Given the description of an element on the screen output the (x, y) to click on. 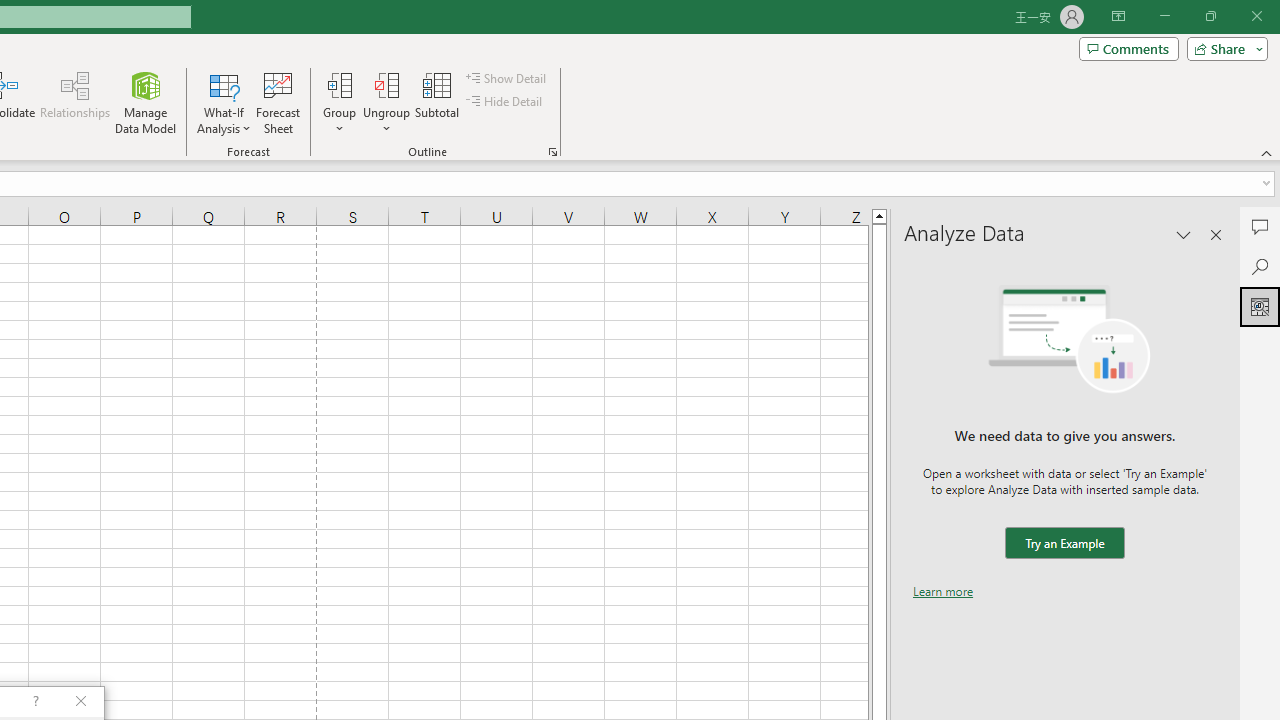
Search (1260, 266)
What-If Analysis (223, 102)
Relationships (75, 102)
We need data to give you answers. Try an Example (1064, 543)
Hide Detail (505, 101)
Subtotal (437, 102)
Show Detail (507, 78)
